Given the description of an element on the screen output the (x, y) to click on. 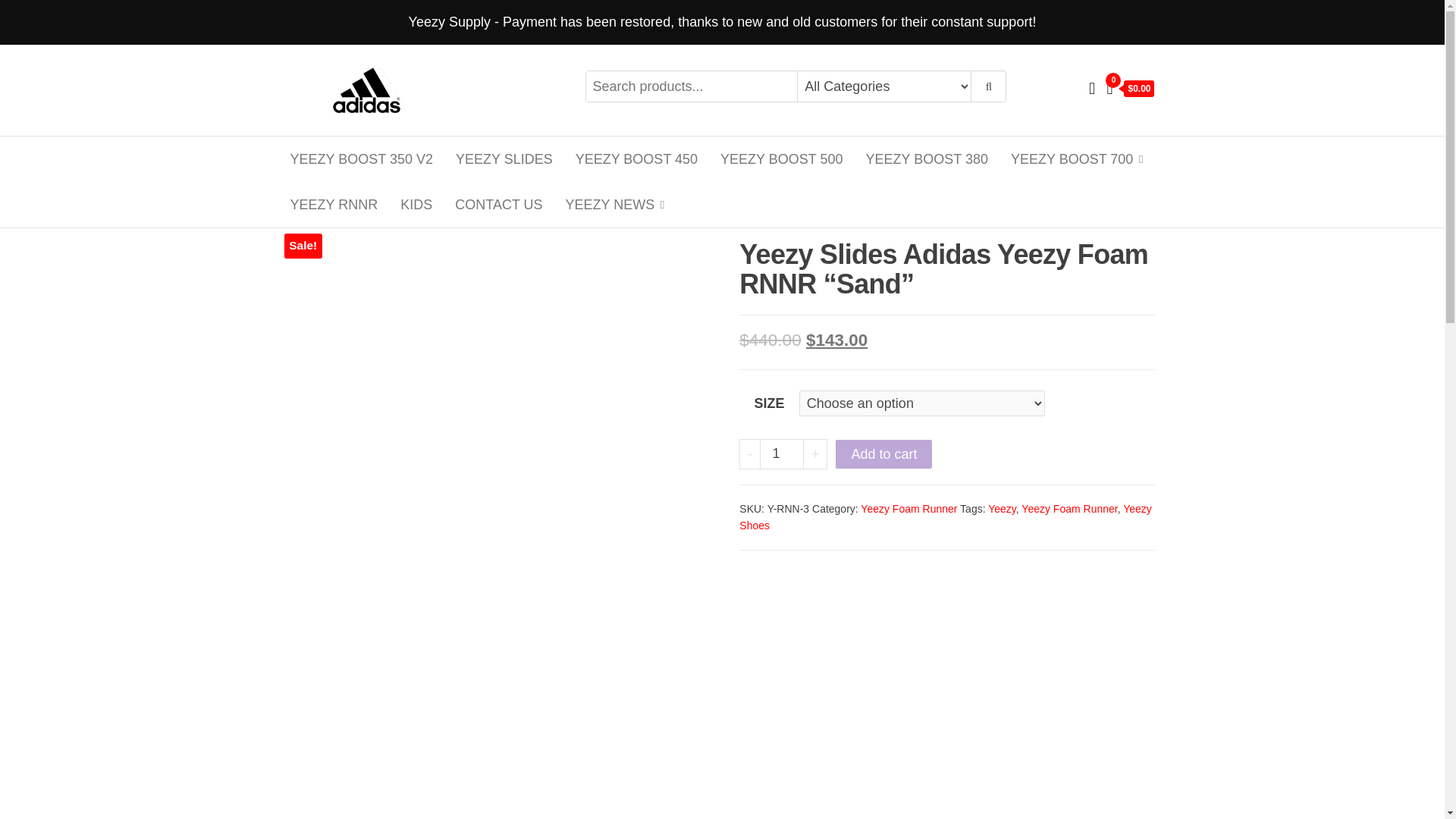
YEEZY SLIDES (504, 158)
Yeezy Shoes (945, 516)
Yeezy RNNR (334, 204)
YEEZY BOOST 700 (1071, 158)
Add to cart (883, 453)
Yeezy Foam Runner (908, 508)
Yeezy (1002, 508)
YEEZY BOOST 380 (926, 158)
KIDS (416, 204)
YEEZY BOOST 450 (636, 158)
